Given the description of an element on the screen output the (x, y) to click on. 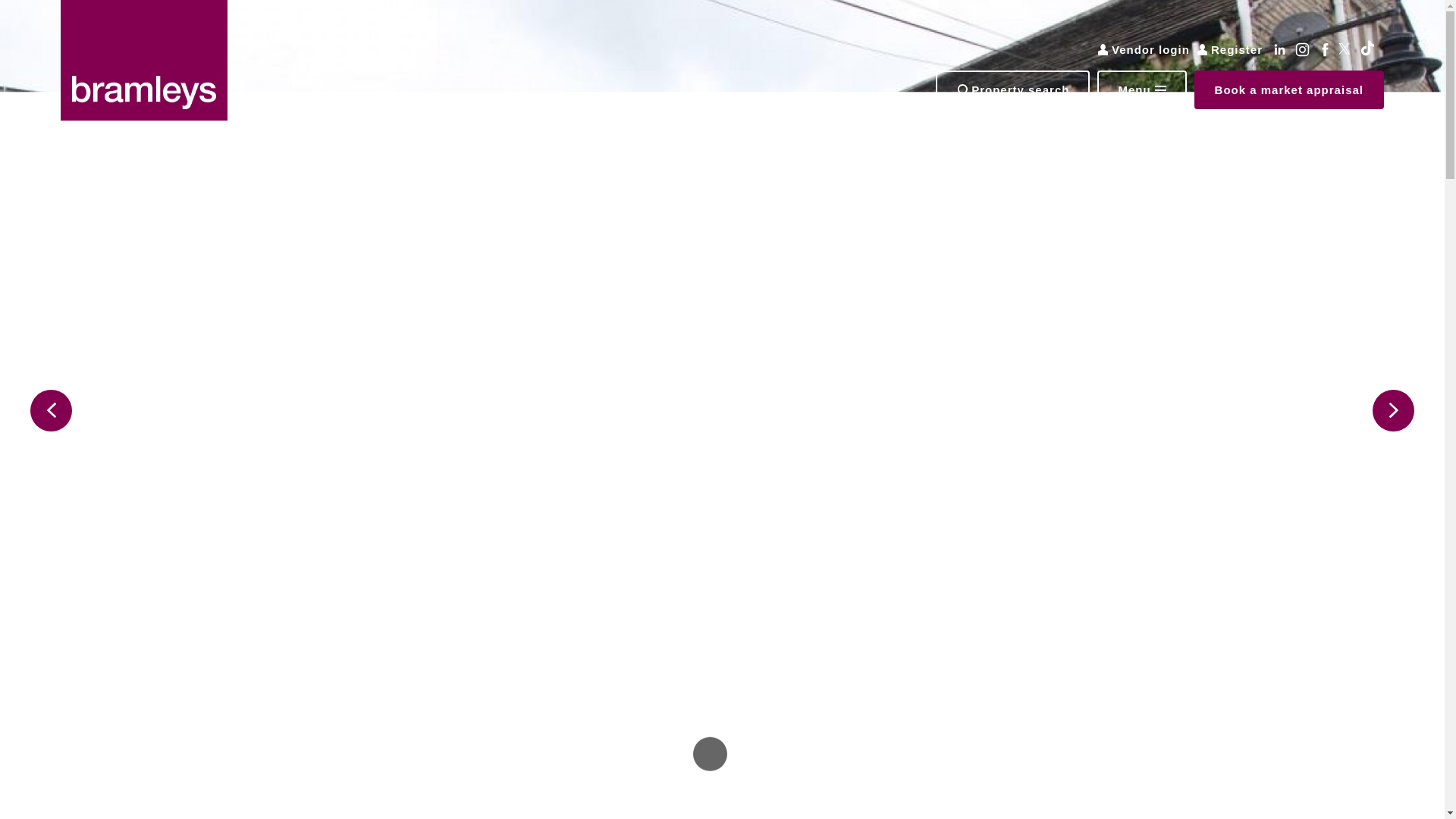
Property search (1012, 89)
Book a market appraisal (1288, 89)
Menu (1141, 89)
Vendor login (1143, 49)
Register (1229, 49)
